Given the description of an element on the screen output the (x, y) to click on. 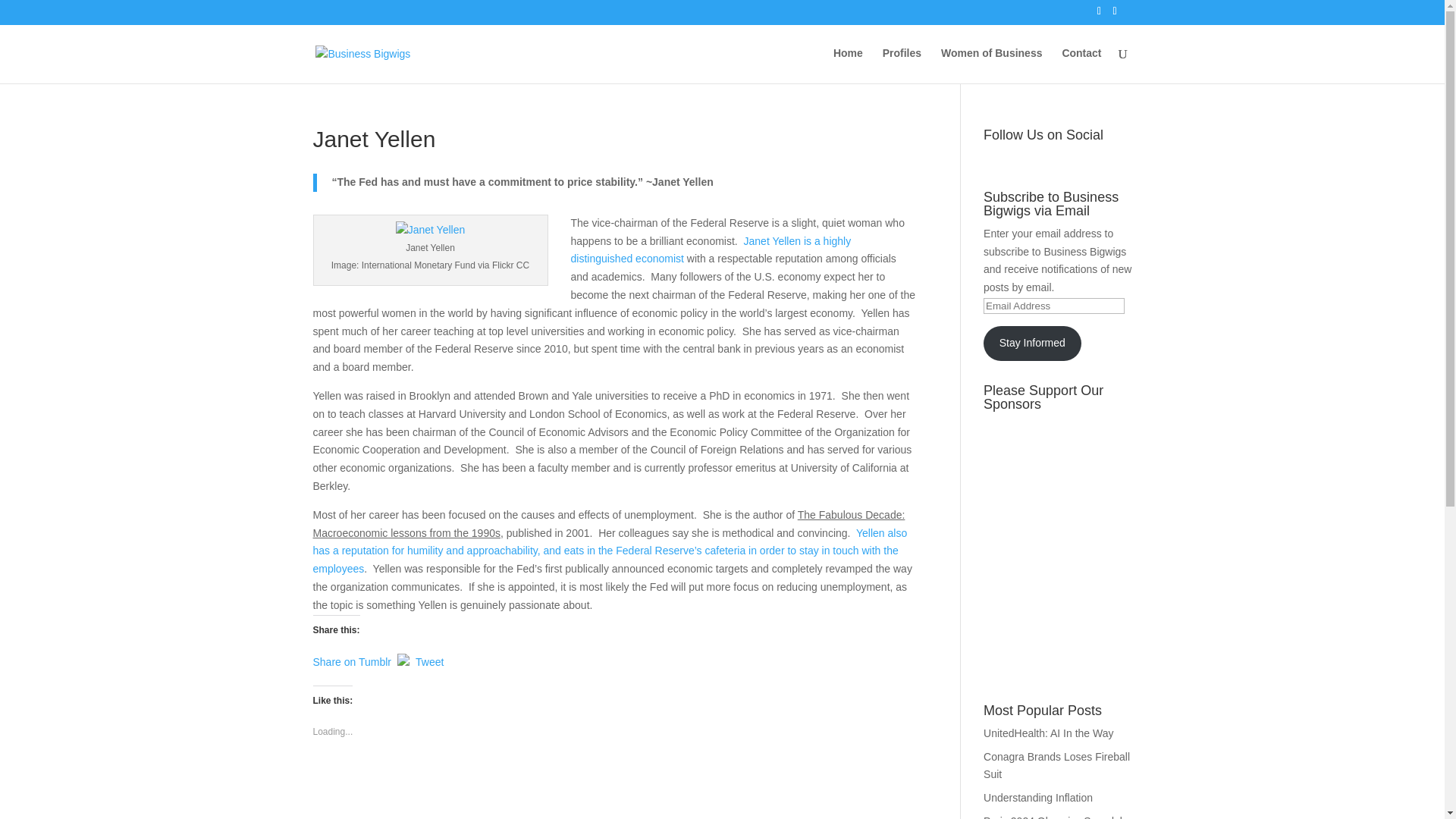
Contact (1080, 65)
Understanding Inflation (1038, 797)
Profiles (901, 65)
Share on Tumblr (352, 658)
Paris 2024 Olympics Scandal (1053, 816)
Stay Informed (1032, 343)
Share on Tumblr (352, 658)
UnitedHealth: AI In the Way (1048, 733)
Conagra Brands Loses Fireball Suit (1056, 766)
Tweet (429, 658)
